Given the description of an element on the screen output the (x, y) to click on. 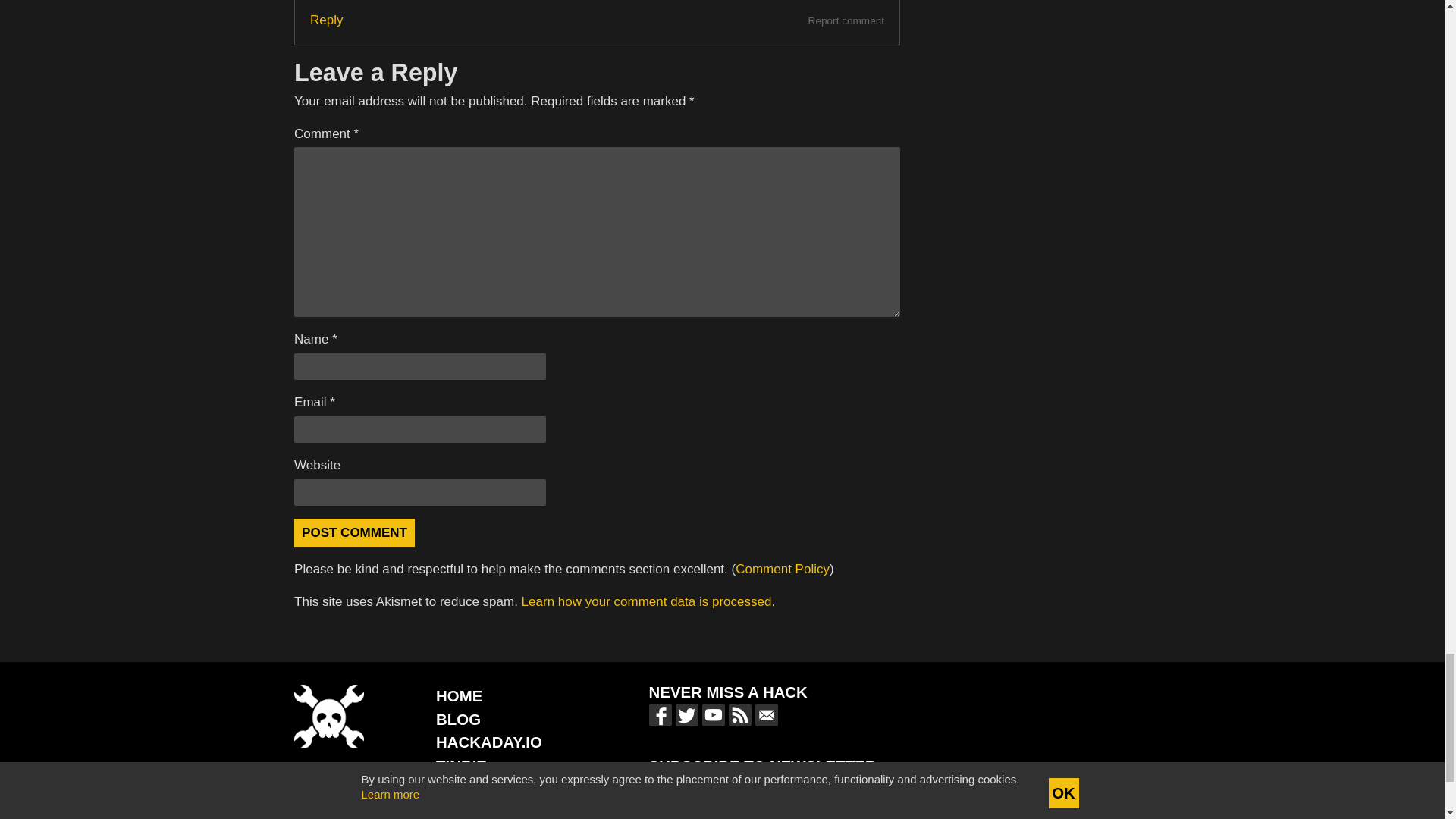
Post Comment (354, 532)
Build Something that Matters (503, 788)
Subscribe (874, 792)
